Given the description of an element on the screen output the (x, y) to click on. 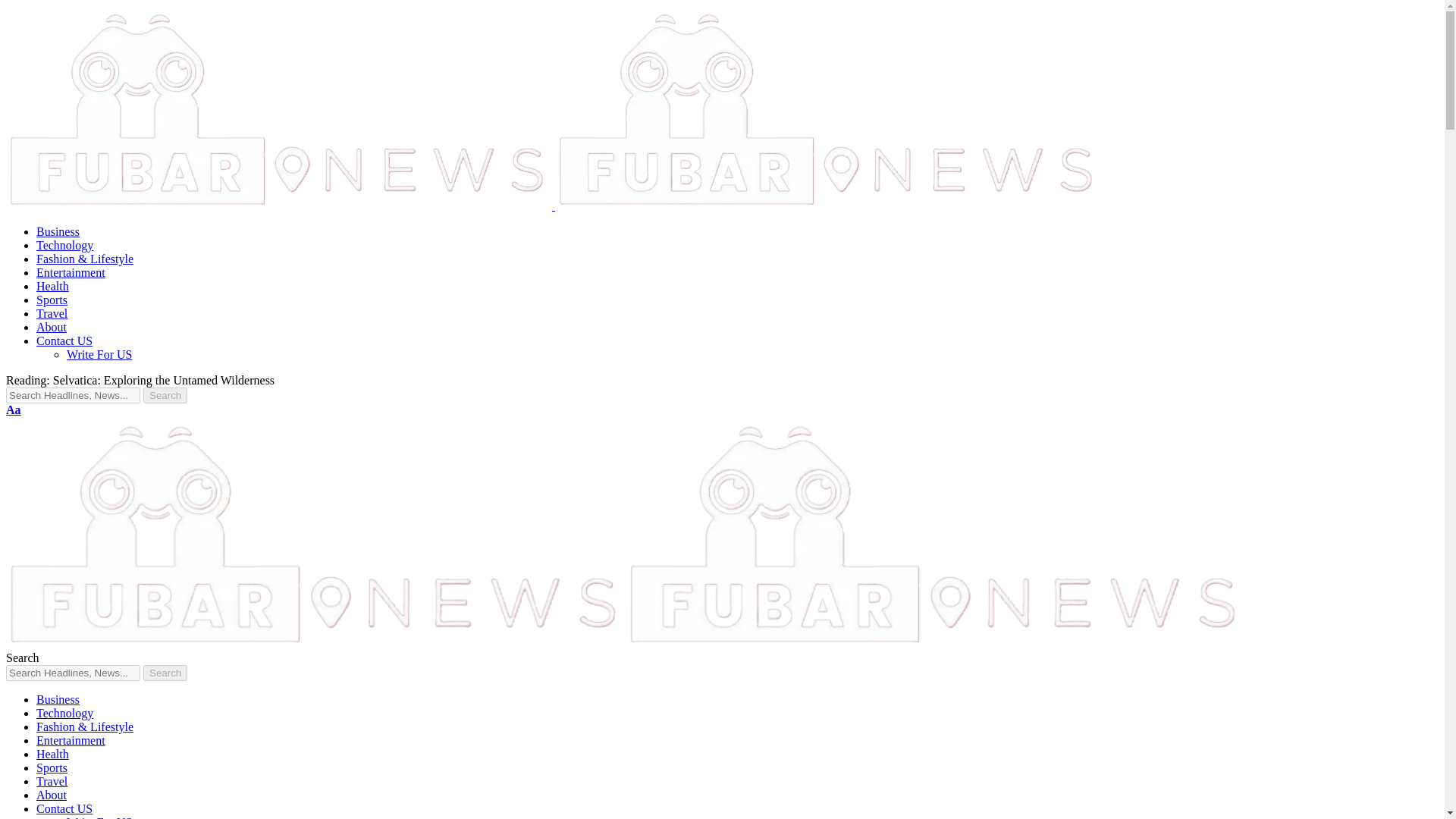
Travel (51, 780)
Health (52, 286)
Sports (51, 299)
Search (164, 672)
Write For US (99, 817)
Health (52, 753)
Travel (51, 313)
Business (58, 698)
Contact US (64, 340)
